Given the description of an element on the screen output the (x, y) to click on. 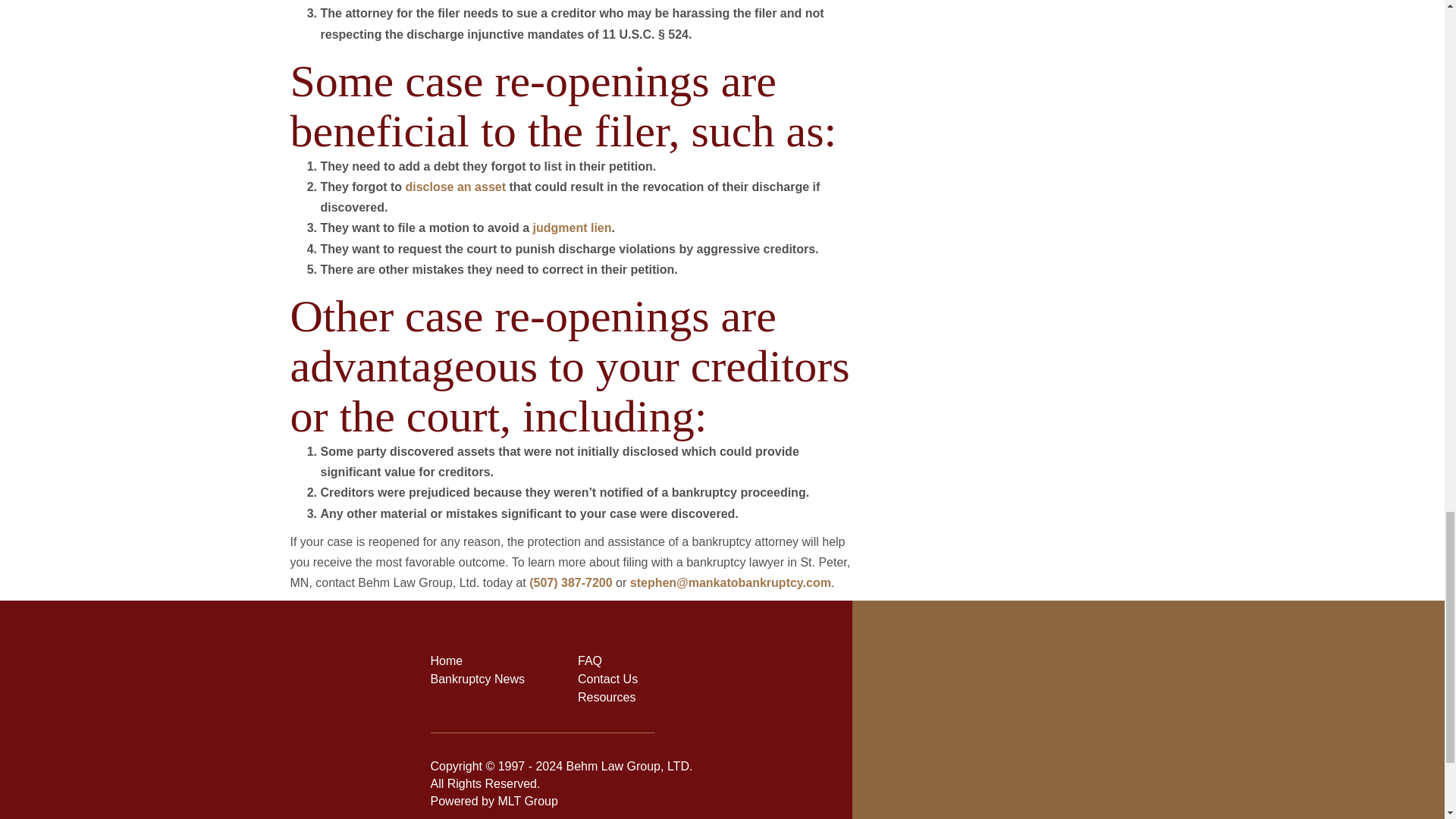
judgment lien (571, 227)
disclose an asset (454, 186)
